Given the description of an element on the screen output the (x, y) to click on. 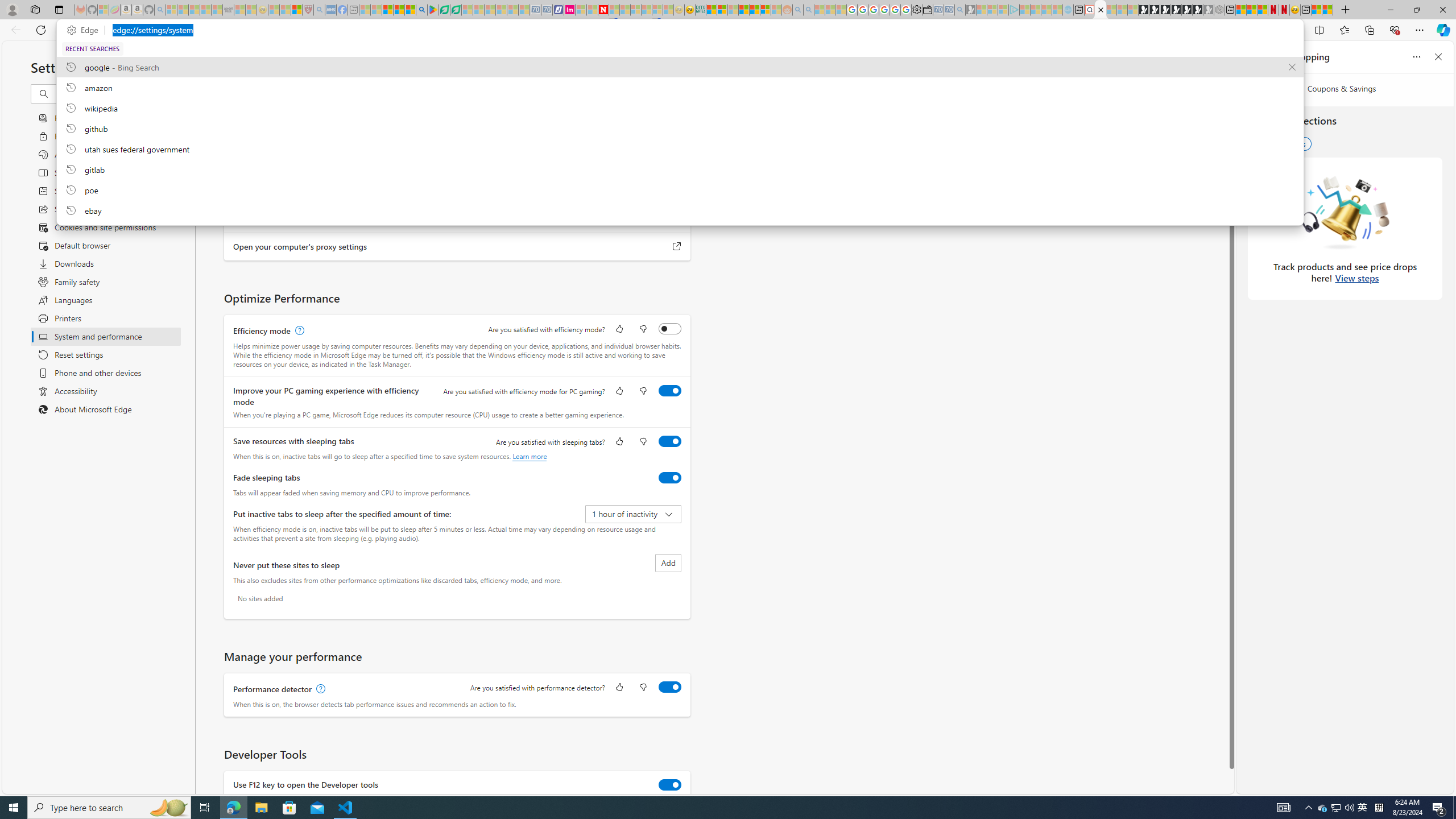
wikipedia, recent searches from history (679, 107)
amazon, recent searches from history (679, 86)
